Given the description of an element on the screen output the (x, y) to click on. 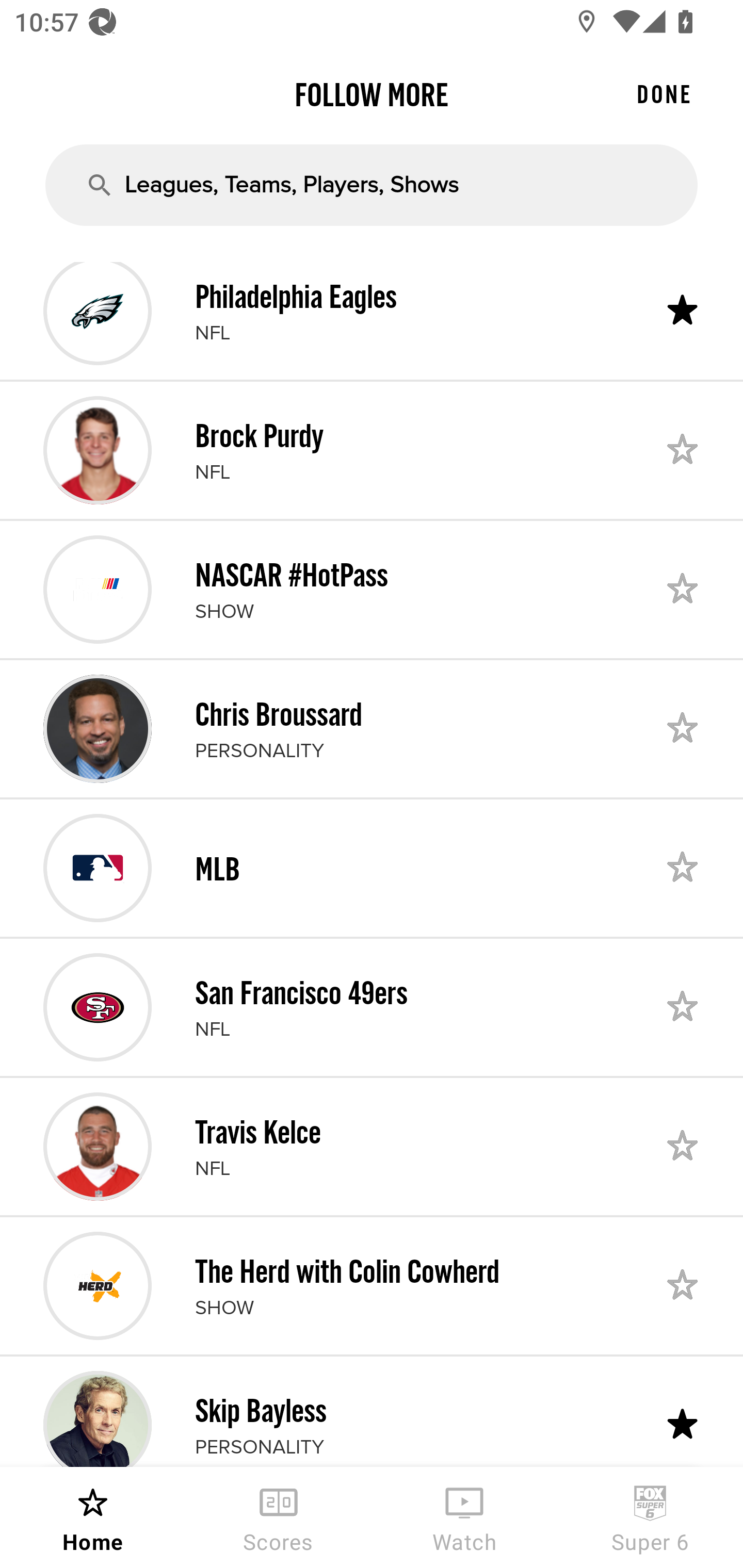
DONE (663, 93)
Leagues, Teams, Players, Shows (371, 184)
Philadelphia Eagles NFL (371, 320)
Brock Purdy NFL (371, 450)
NASCAR #HotPass SHOW (371, 589)
Chris Broussard PERSONALITY (371, 729)
MLB (371, 867)
San Francisco 49ers NFL (371, 1007)
Travis Kelce NFL (371, 1146)
The Herd with Colin Cowherd SHOW (371, 1285)
Skip Bayless PERSONALITY (371, 1411)
Scores (278, 1517)
Watch (464, 1517)
Super 6 (650, 1517)
